Given the description of an element on the screen output the (x, y) to click on. 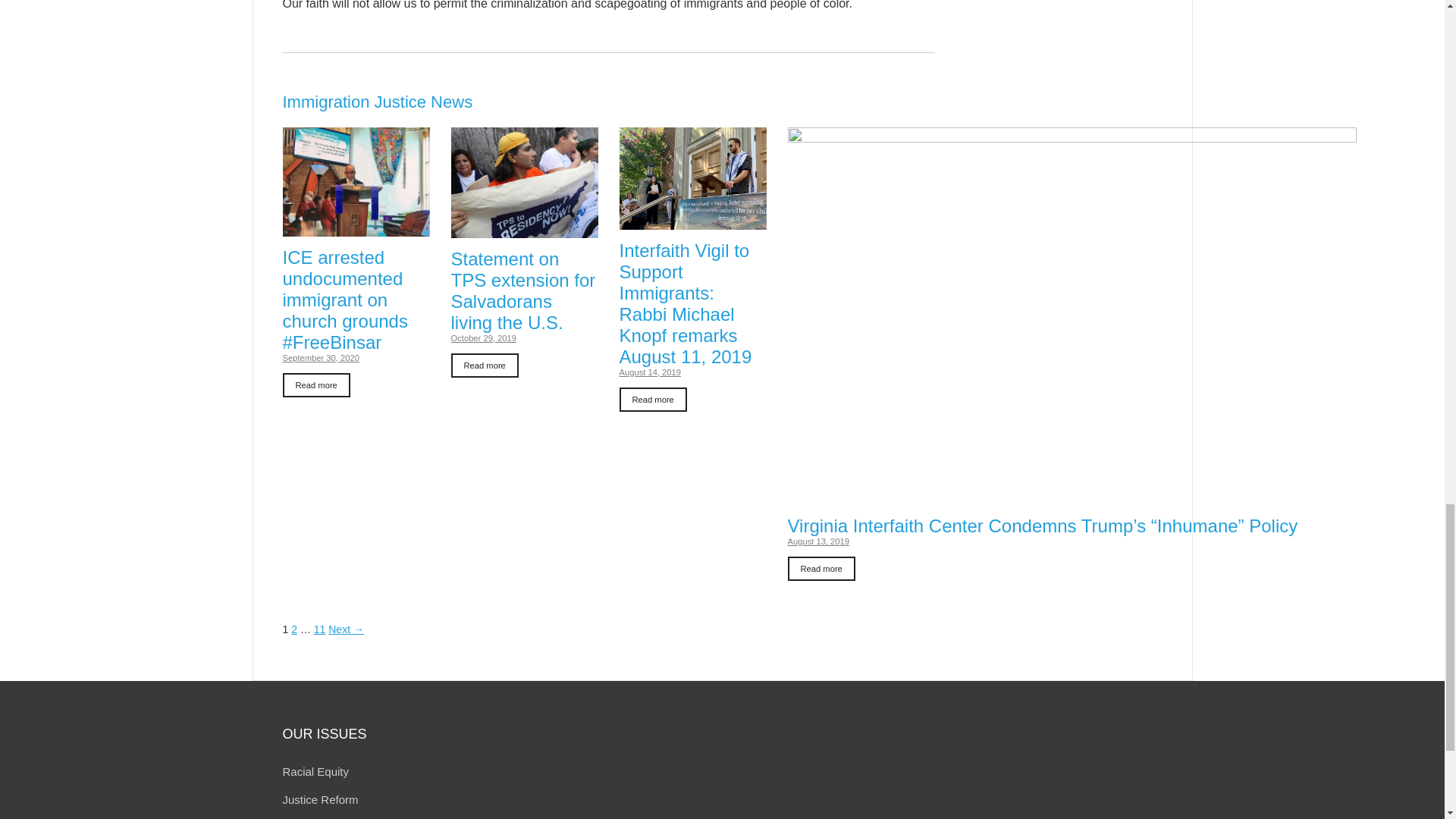
Statement on TPS extension for Salvadorans living the U.S. (522, 232)
2:25 pm (482, 338)
8:35 am (649, 371)
2:06 pm (320, 357)
Statement on TPS extension for Salvadorans living the U.S. (483, 364)
